Given the description of an element on the screen output the (x, y) to click on. 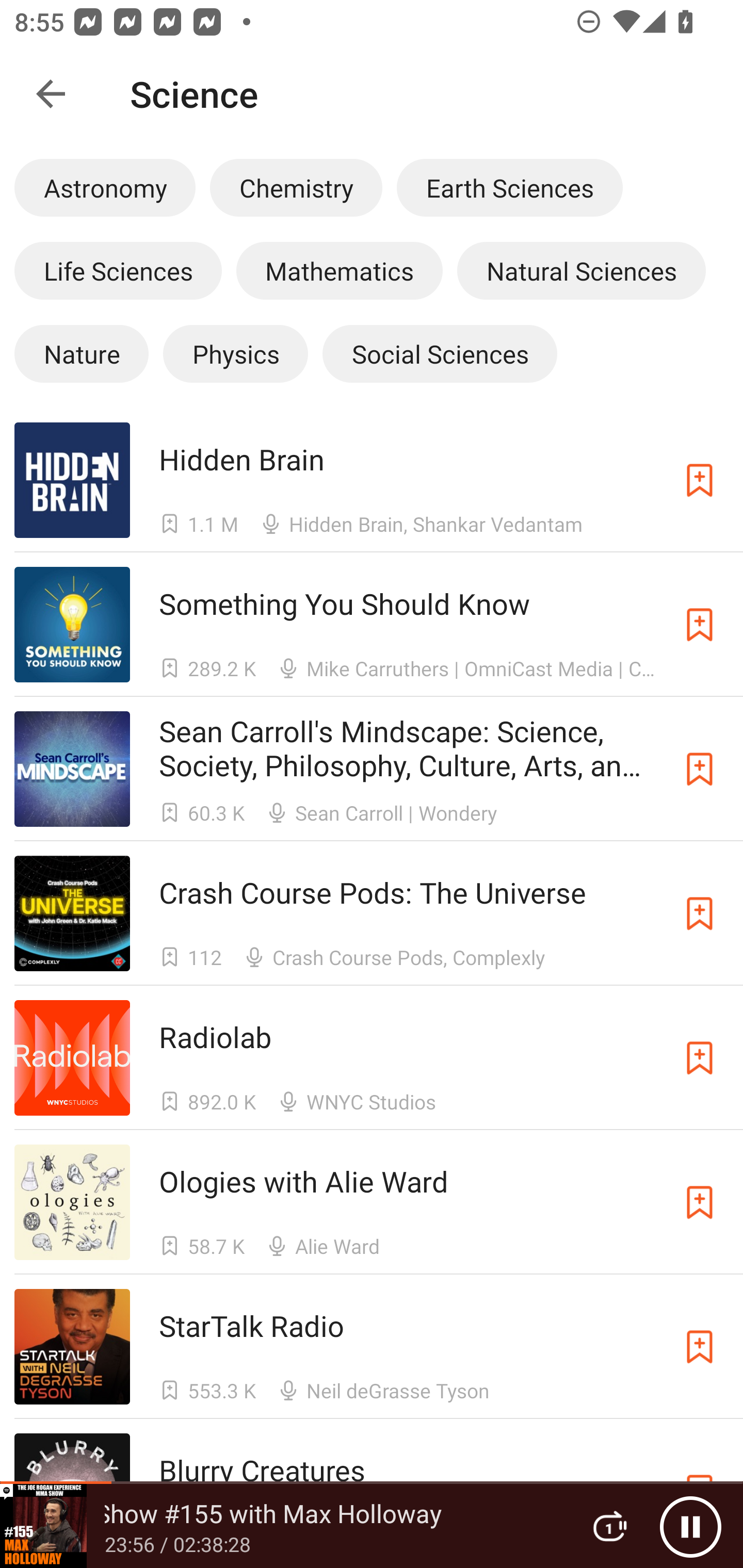
Navigate up (50, 93)
Astronomy (104, 187)
Chemistry (296, 187)
Earth Sciences (509, 187)
Life Sciences (118, 270)
Mathematics (339, 270)
Natural Sciences (580, 270)
Nature (81, 353)
Physics (235, 353)
Social Sciences (439, 353)
Subscribe (699, 479)
Subscribe (699, 624)
Subscribe (699, 768)
Subscribe (699, 913)
Subscribe (699, 1058)
Subscribe (699, 1202)
Subscribe (699, 1346)
Pause (690, 1526)
